Given the description of an element on the screen output the (x, y) to click on. 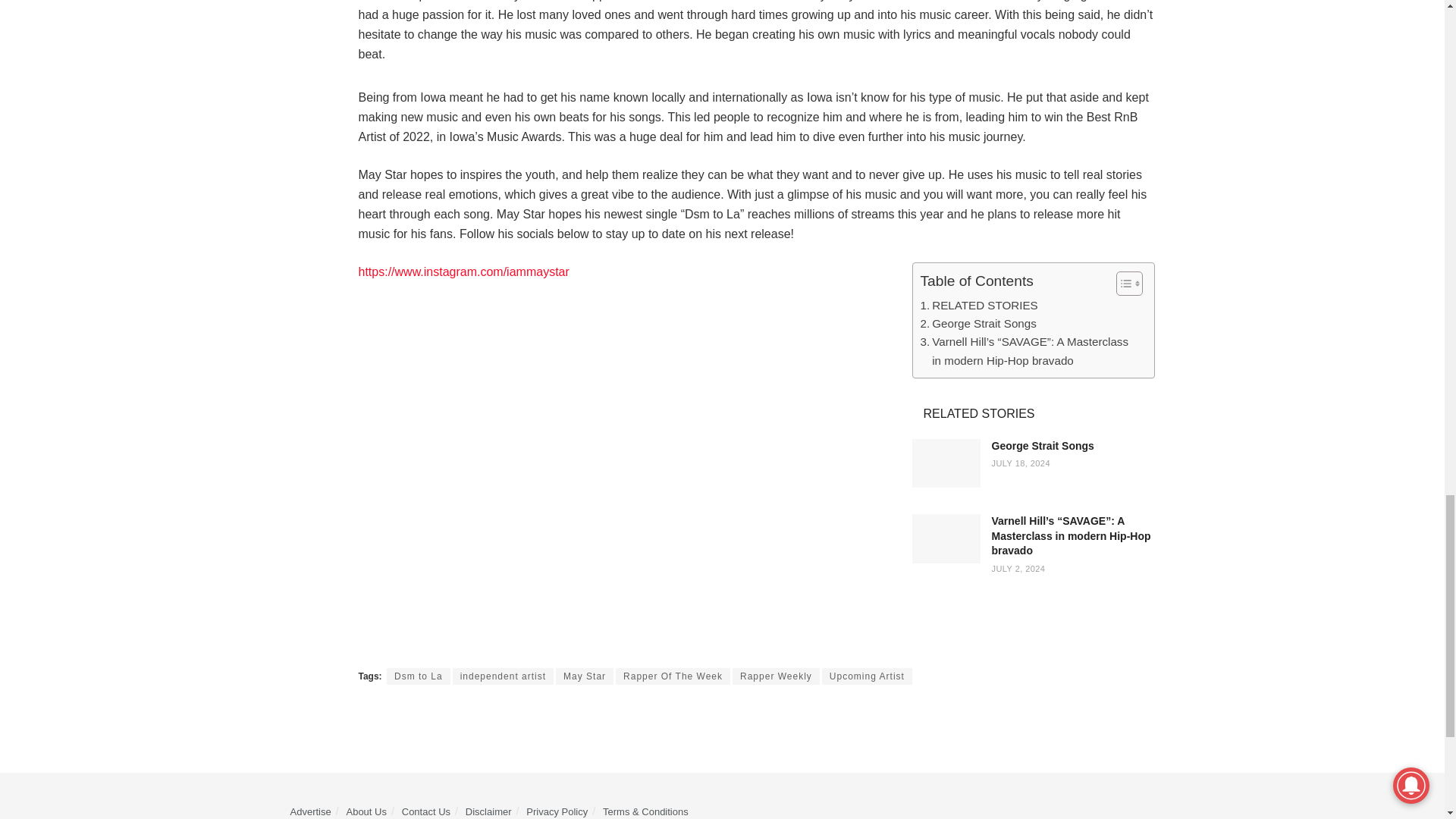
RELATED STORIES (979, 305)
JULY 2, 2024 (1018, 568)
George Strait Songs (1042, 445)
RELATED STORIES (979, 305)
JULY 18, 2024 (1020, 462)
George Strait Songs (978, 323)
